Given the description of an element on the screen output the (x, y) to click on. 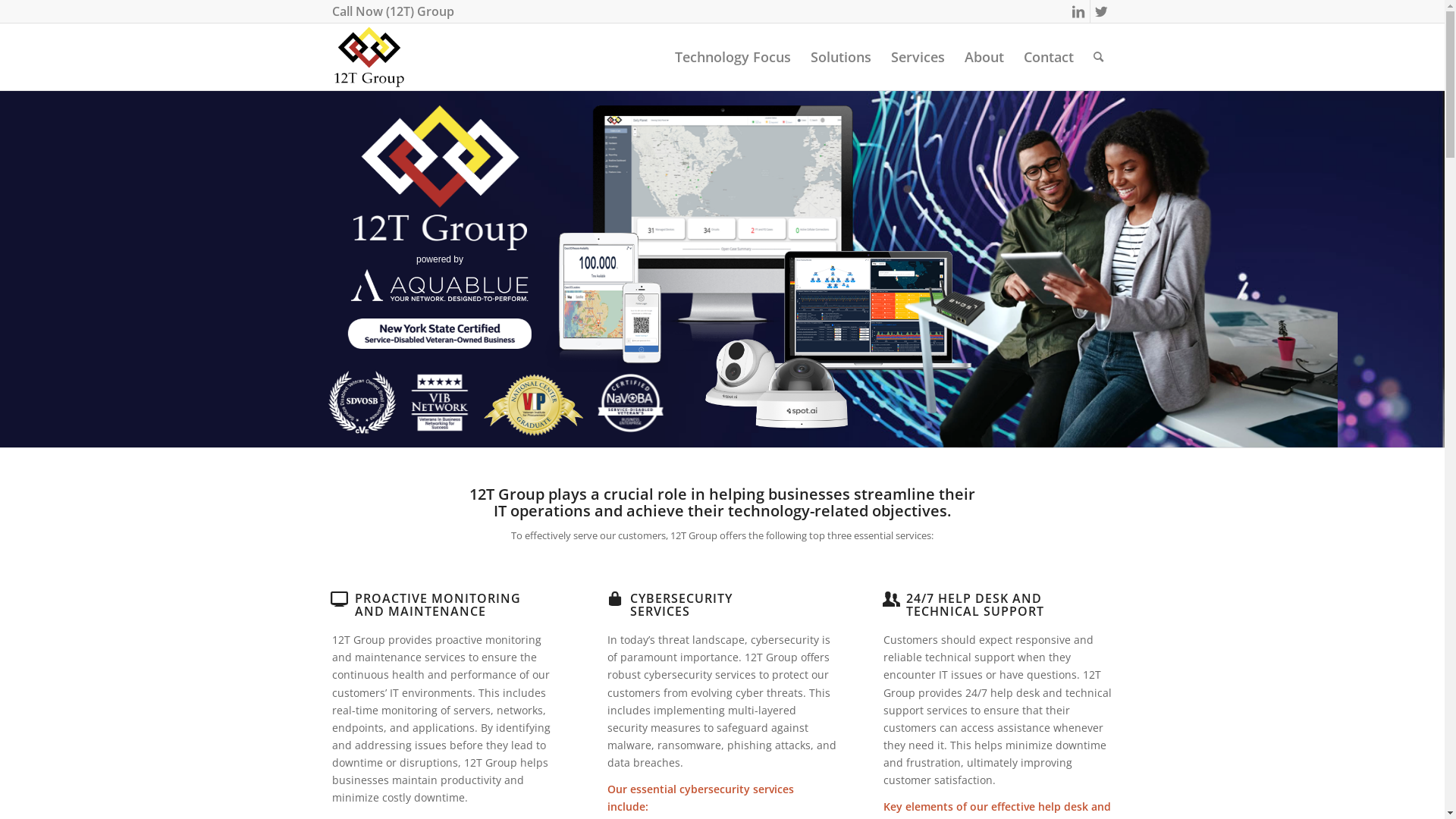
(12T) Group Element type: text (419, 11)
About Element type: text (983, 56)
Contact Element type: text (1047, 56)
Services Element type: text (917, 56)
12I Management Platform by 12T Group Element type: hover (368, 56)
LinkedIn Element type: hover (1078, 11)
Twitter Element type: hover (1101, 11)
Solutions Element type: text (840, 56)
Technology Focus Element type: text (732, 56)
